Given the description of an element on the screen output the (x, y) to click on. 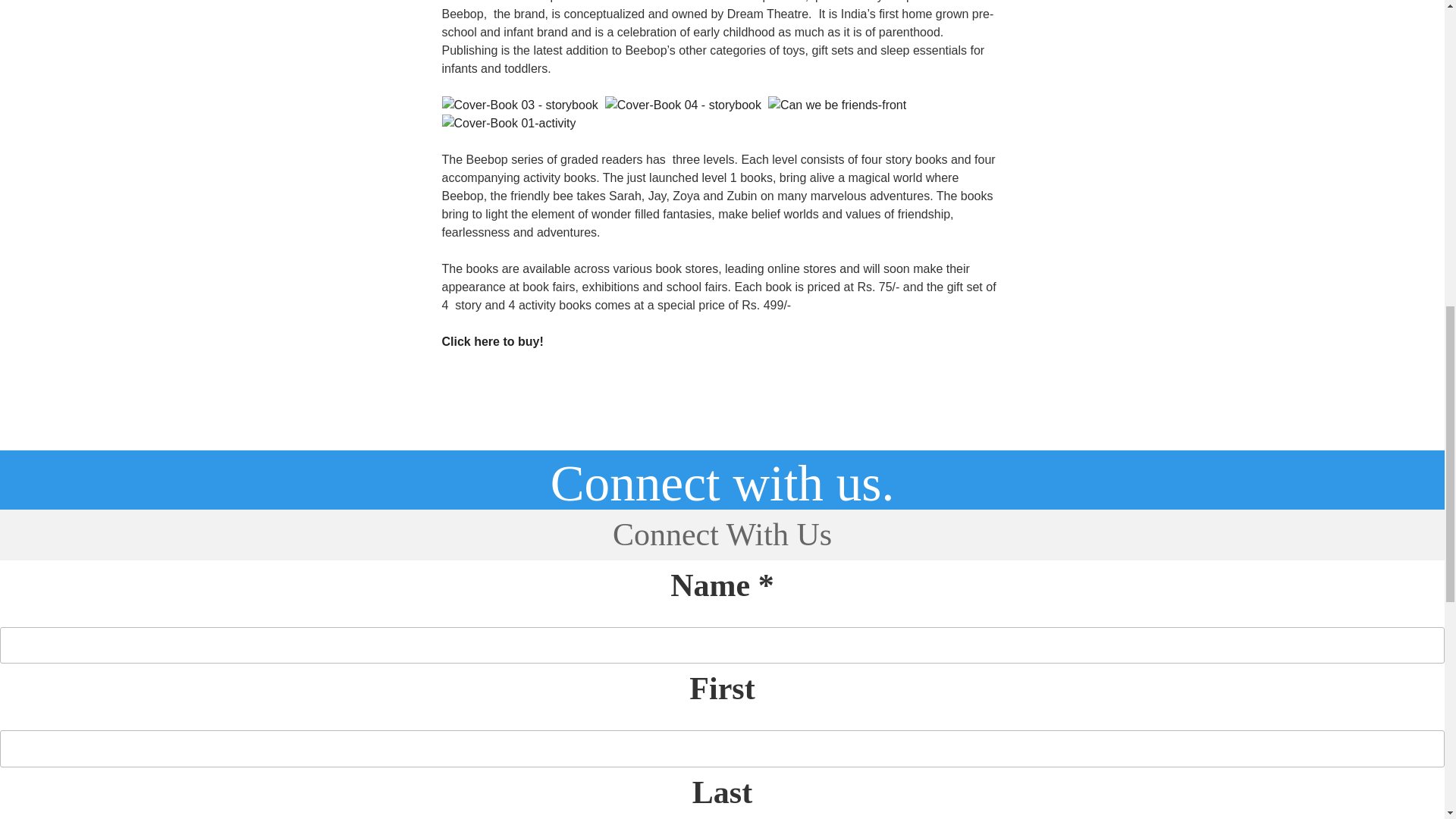
Click here to buy! (492, 341)
